Given the description of an element on the screen output the (x, y) to click on. 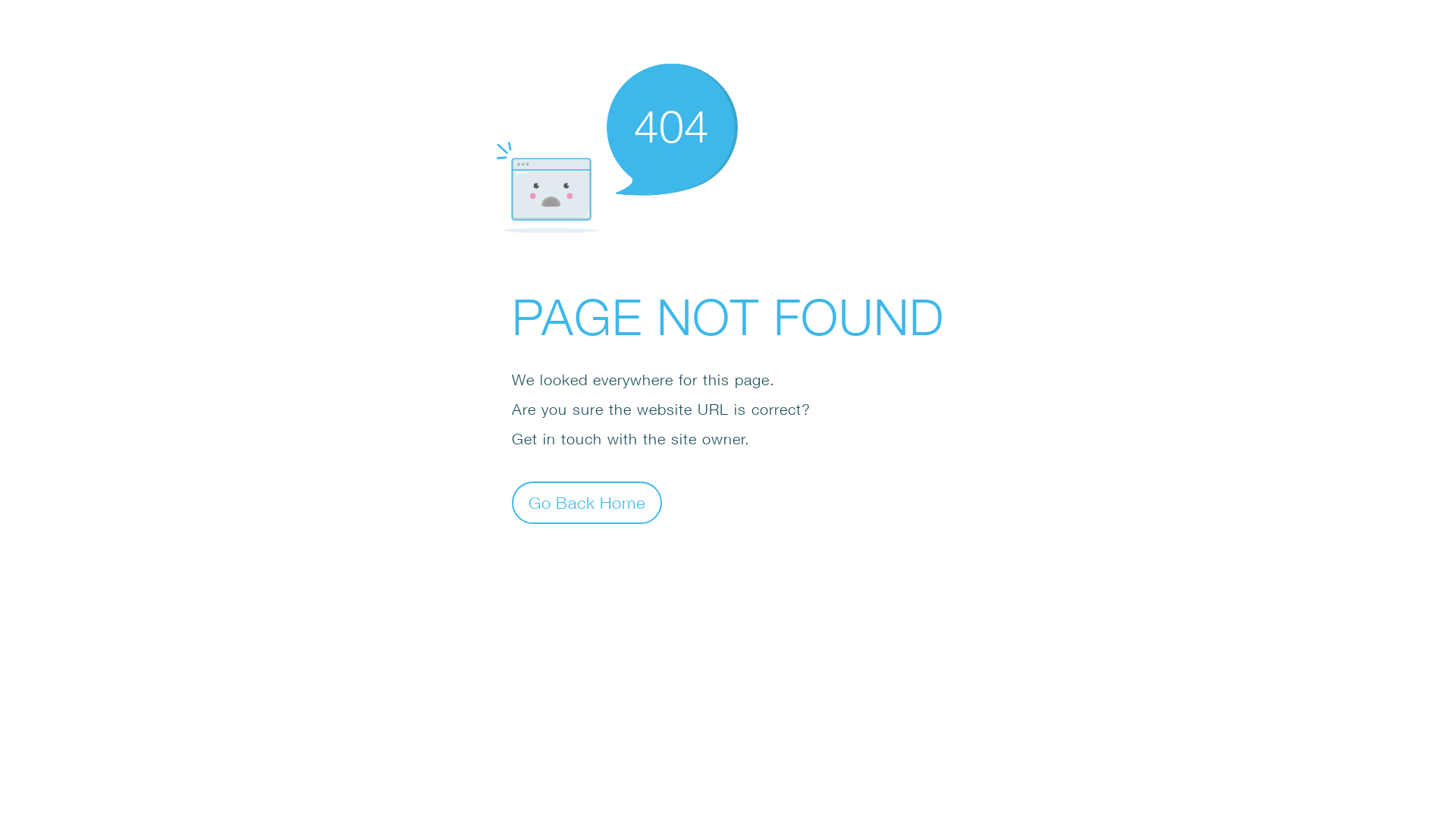
Go Back Home Element type: text (586, 502)
